Given the description of an element on the screen output the (x, y) to click on. 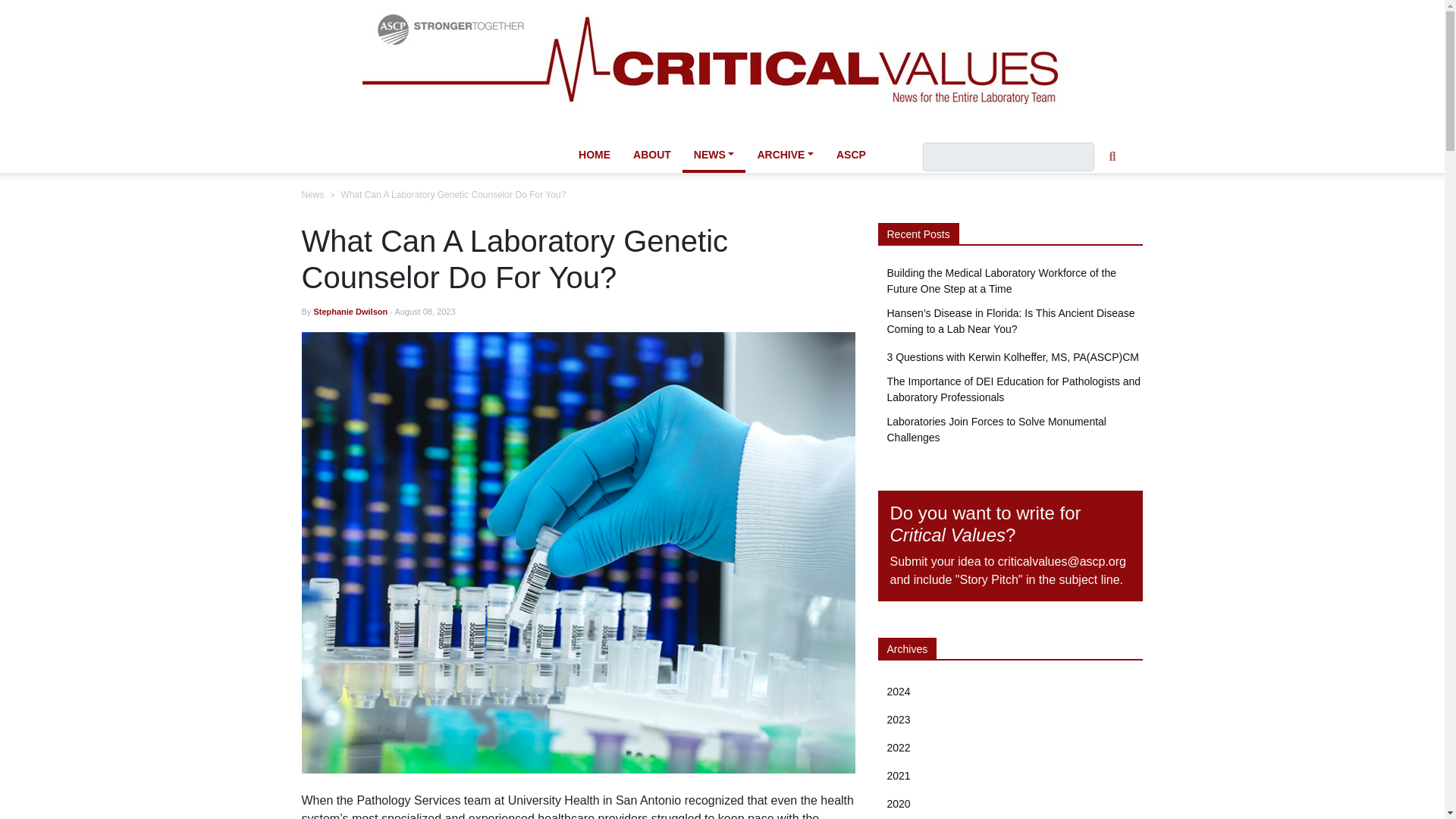
NEWS (713, 156)
ASCP Critical Values (722, 67)
HOME (594, 154)
Open image in original size (722, 65)
ABOUT (651, 154)
